Given the description of an element on the screen output the (x, y) to click on. 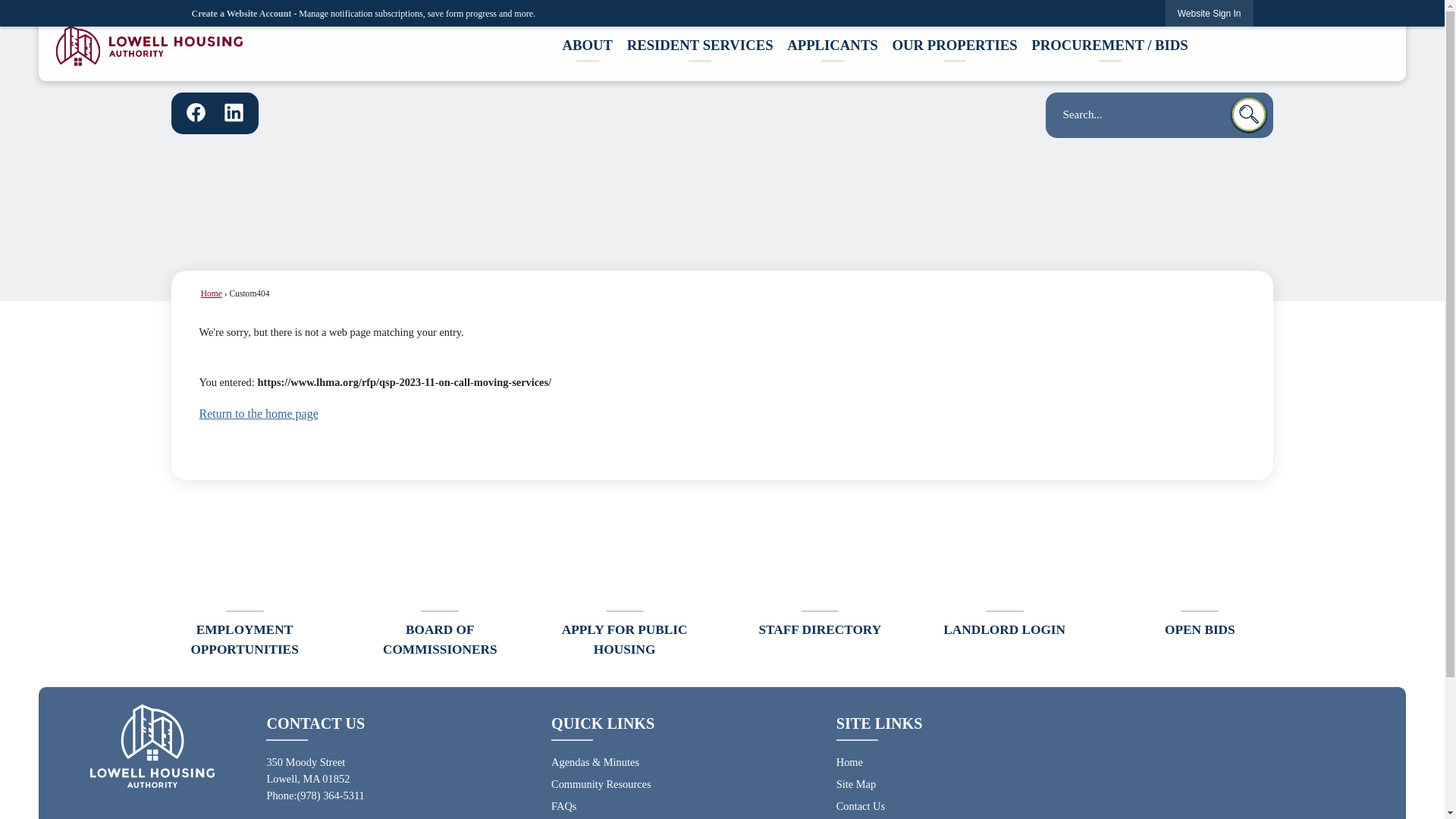
Home (849, 761)
Website Sign In (1209, 13)
QUICK LINKS (602, 723)
STAFF DIRECTORY (820, 577)
FAQs (563, 806)
LANDLORD LOGIN (1004, 577)
APPLY FOR PUBLIC HOUSING (624, 587)
Contact Us (860, 806)
ABOUT (587, 48)
Search... (1158, 115)
OPEN BIDS (1200, 577)
APPLICANTS (832, 48)
RESIDENT SERVICES (700, 48)
EMPLOYMENT OPPORTUNITIES (244, 587)
SITE LINKS (879, 723)
